Given the description of an element on the screen output the (x, y) to click on. 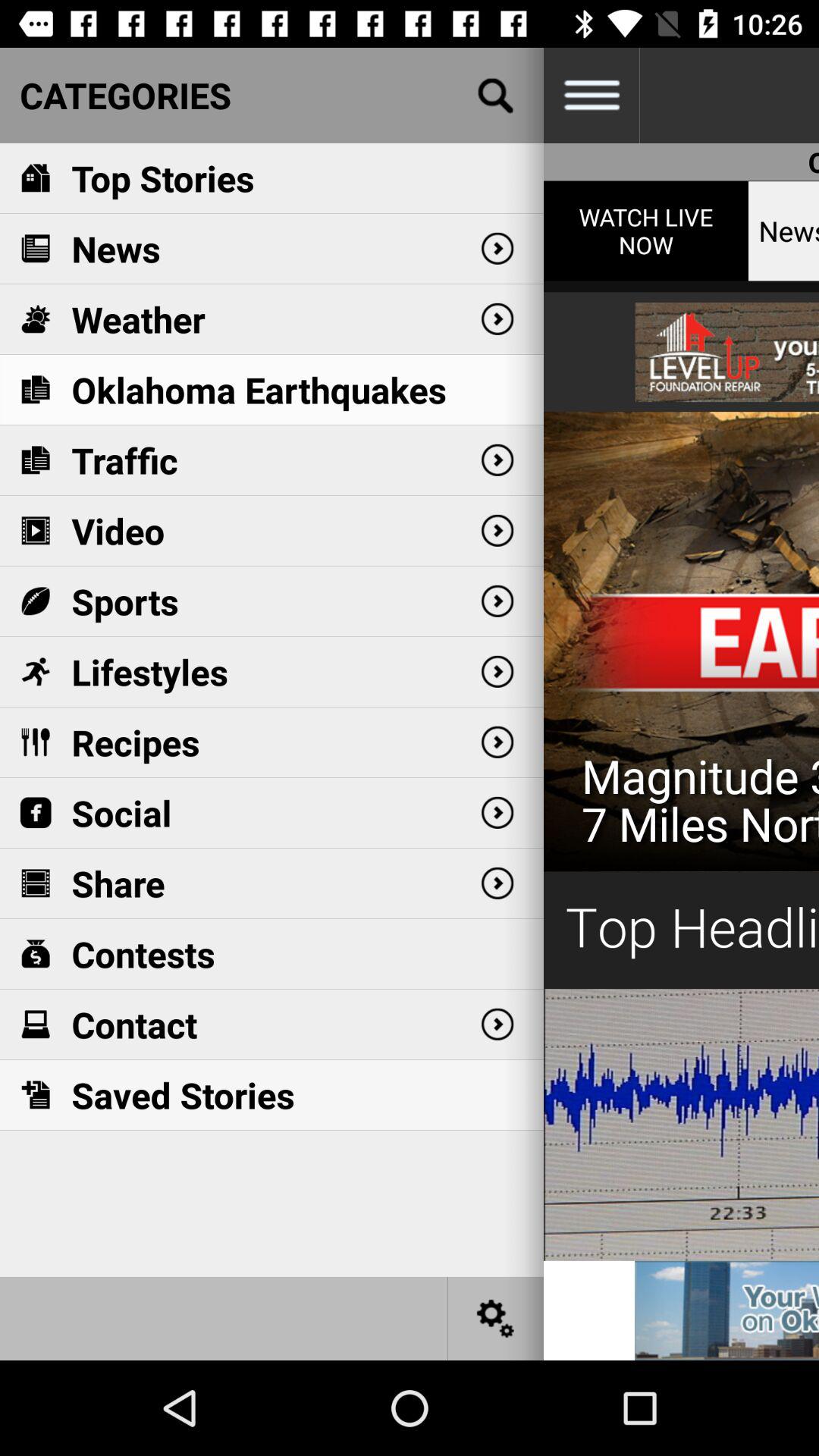
view the adverisment (681, 720)
